Given the description of an element on the screen output the (x, y) to click on. 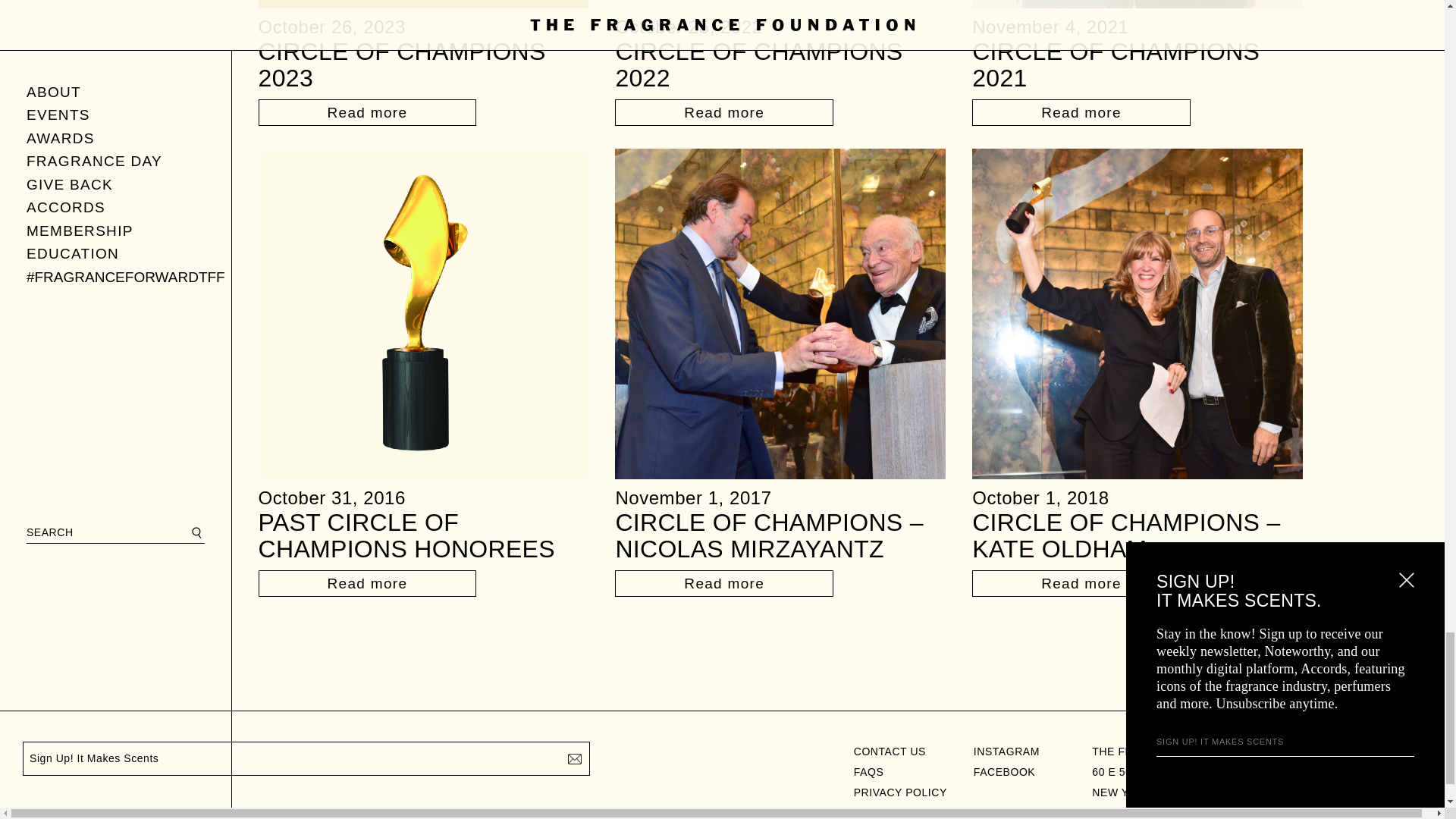
S (574, 758)
